Given the description of an element on the screen output the (x, y) to click on. 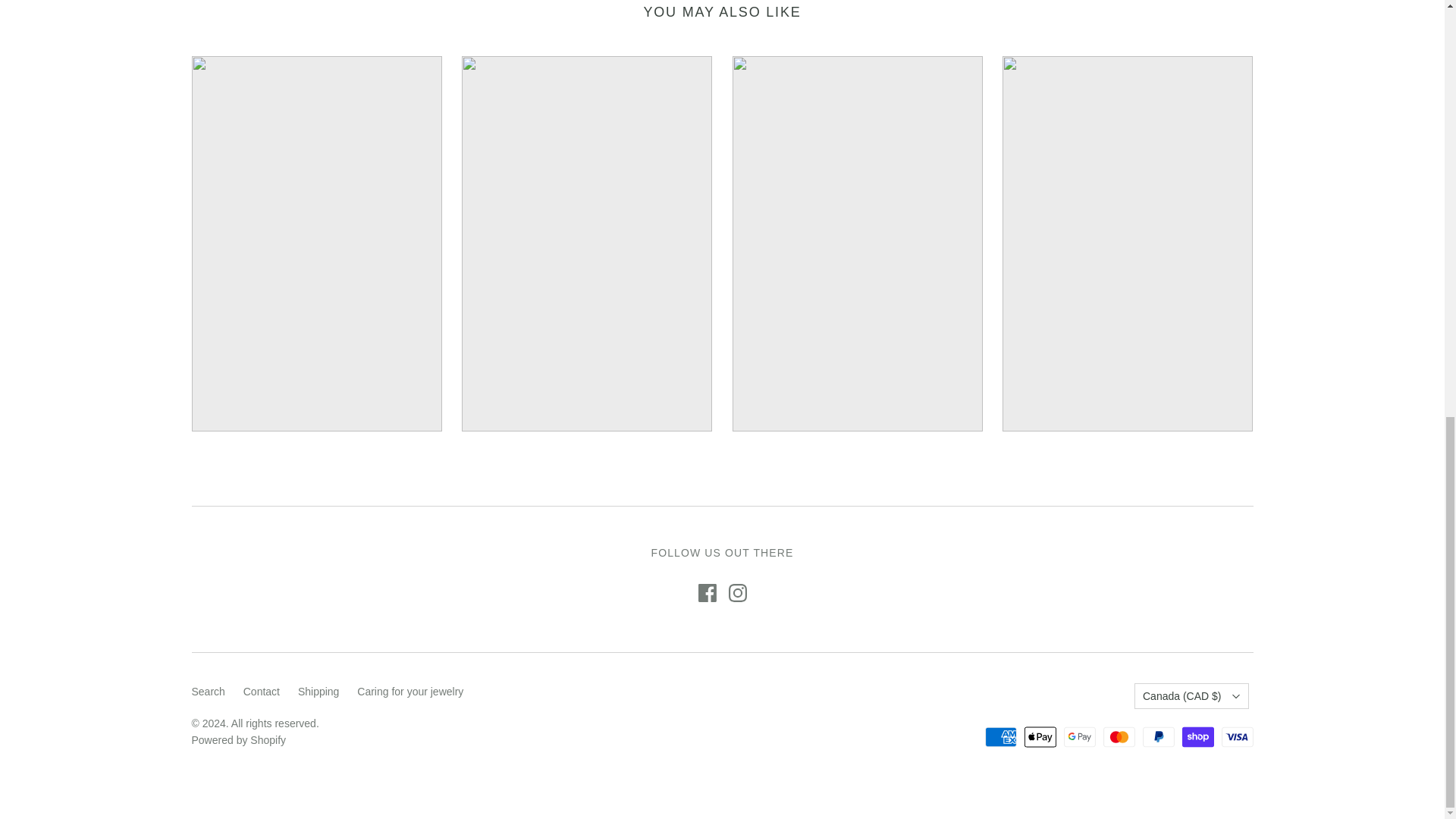
Apple Pay (1041, 736)
PayPal (1158, 736)
American Express (1000, 736)
Google Pay (1080, 736)
Mastercard (1119, 736)
